Given the description of an element on the screen output the (x, y) to click on. 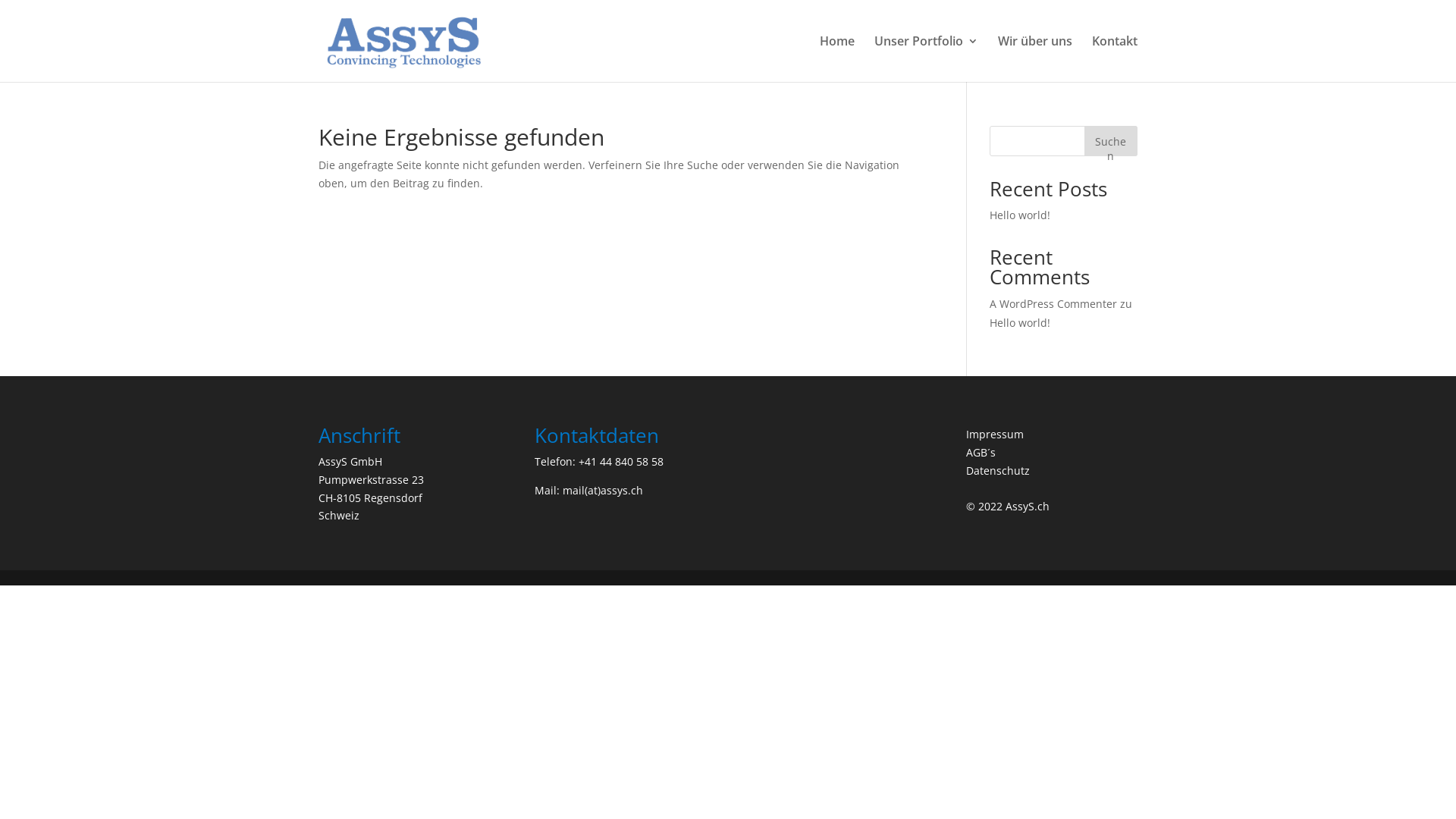
Hello world! Element type: text (1019, 214)
Kontakt Element type: text (1114, 58)
Home Element type: text (836, 58)
Impressum Element type: text (994, 433)
Unser Portfolio Element type: text (926, 58)
Suchen Element type: text (1110, 140)
Datenschutz Element type: text (997, 470)
A WordPress Commenter Element type: text (1053, 303)
mail(at)assys.ch Element type: text (602, 490)
Hello world! Element type: text (1019, 322)
